Given the description of an element on the screen output the (x, y) to click on. 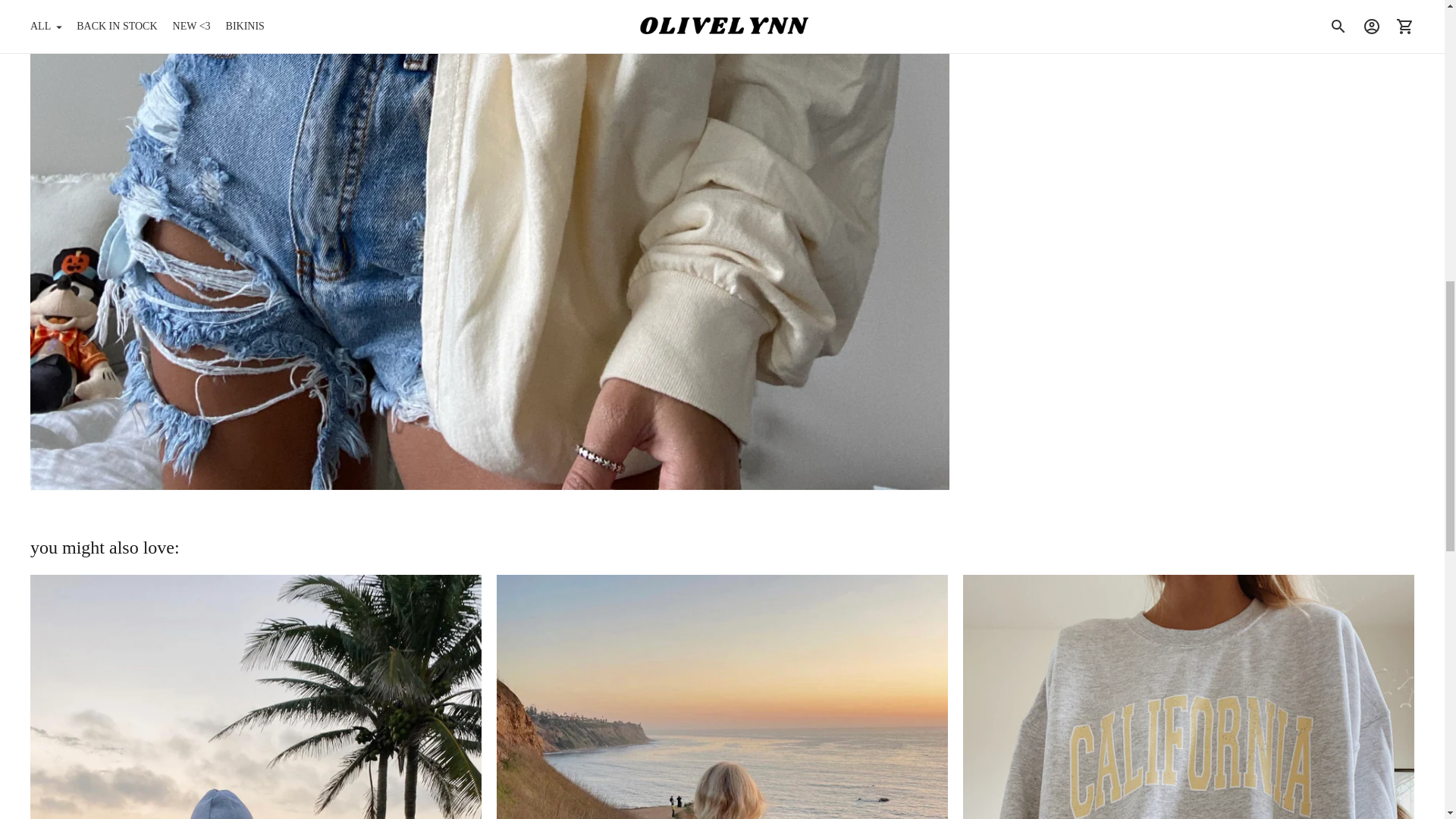
COLORFUL GOOD DAY HOODIE (721, 696)
ORIGINAL CALIFORNIA CREWNECK (1187, 696)
